Given the description of an element on the screen output the (x, y) to click on. 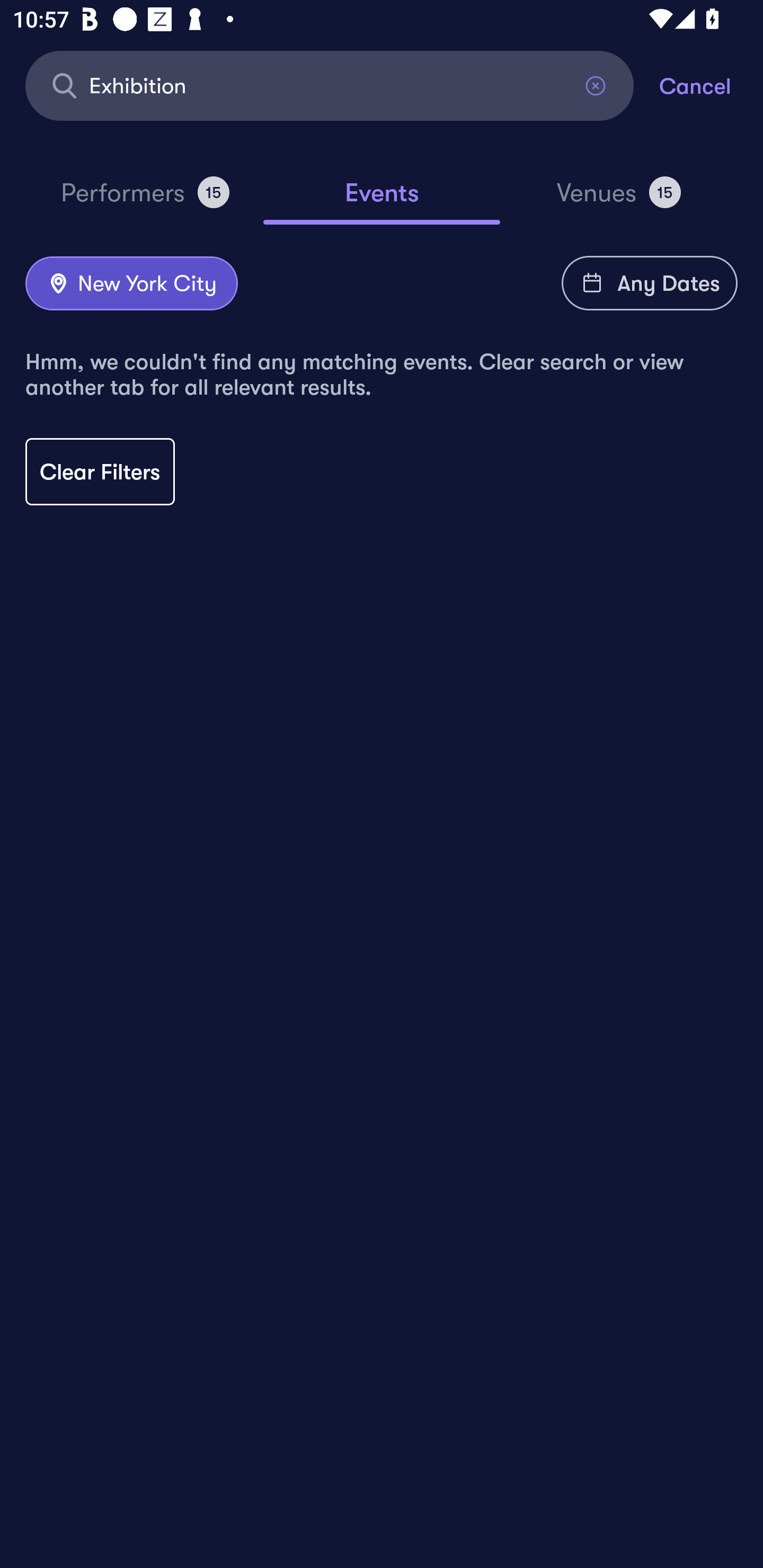
Exhibition Find (329, 85)
Exhibition Find (329, 85)
Cancel (711, 85)
Performers 15 (144, 200)
Venues 15 (618, 200)
Events (381, 201)
Any Dates (649, 282)
New York City (131, 283)
Clear Filters (99, 470)
